Given the description of an element on the screen output the (x, y) to click on. 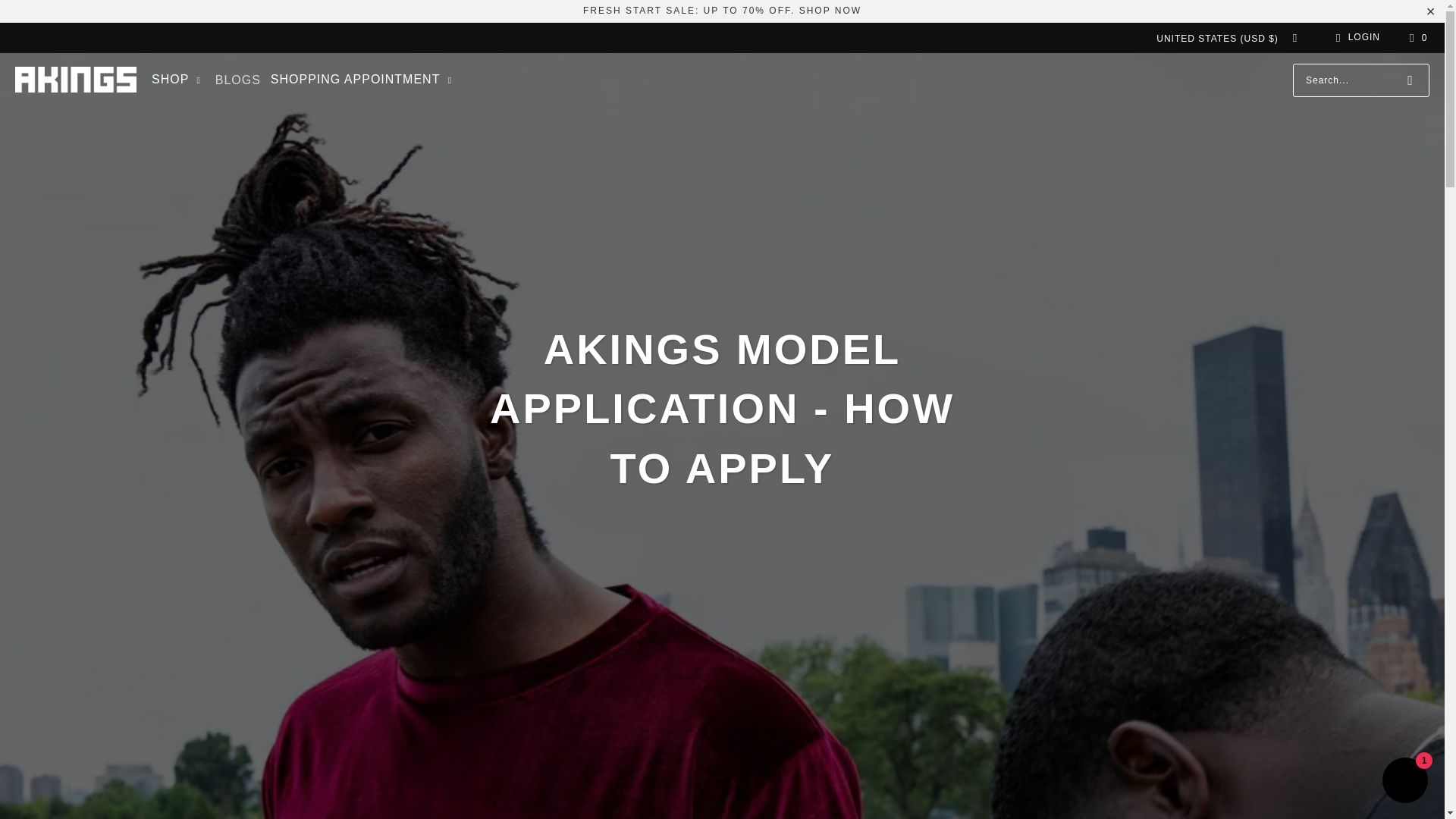
AKINGS (75, 80)
FRESH START SALE (722, 9)
My Account  (1355, 37)
